Given the description of an element on the screen output the (x, y) to click on. 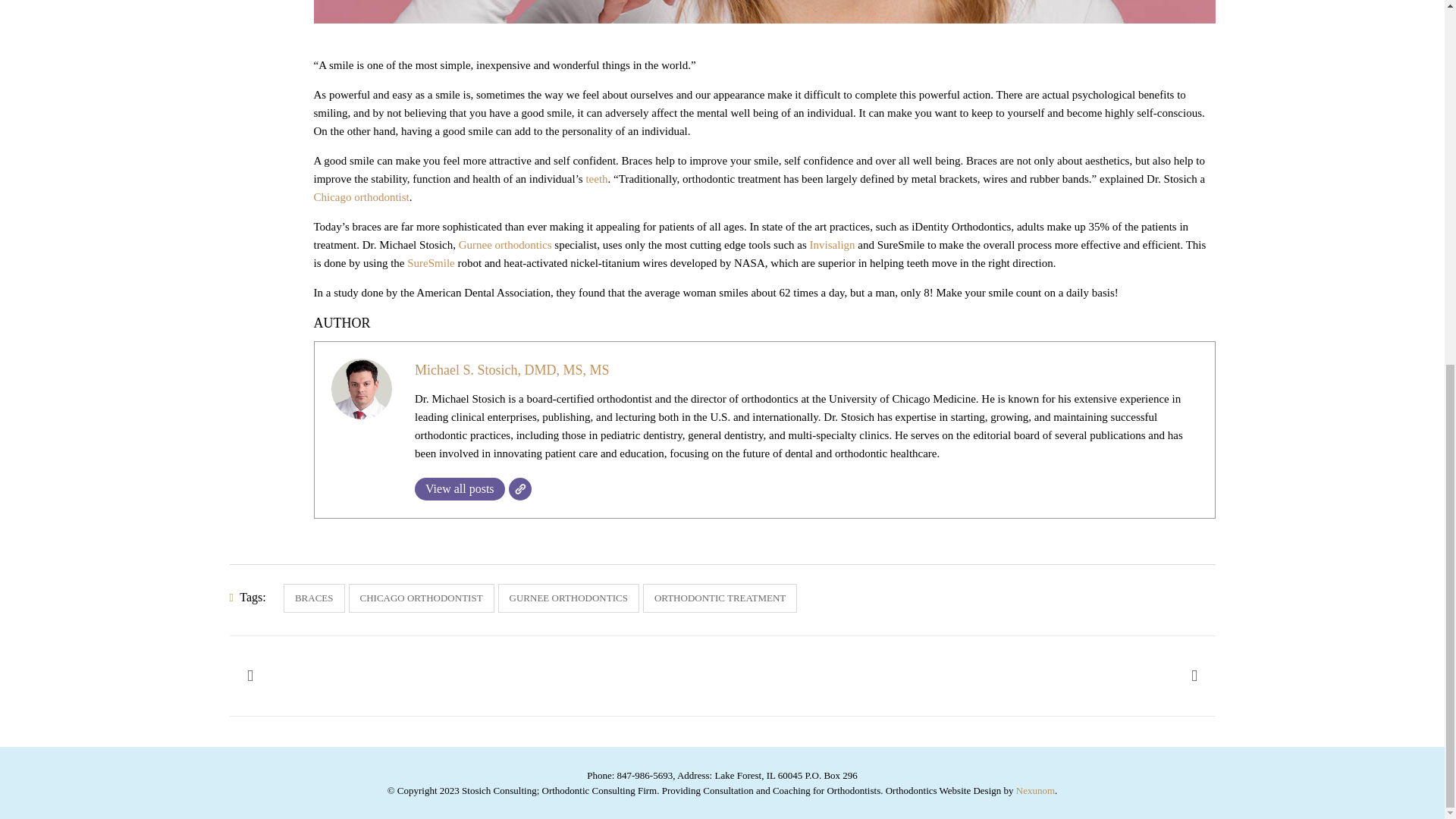
Michael S. Stosich, DMD, MS, MS (512, 369)
View all posts (459, 488)
